Given the description of an element on the screen output the (x, y) to click on. 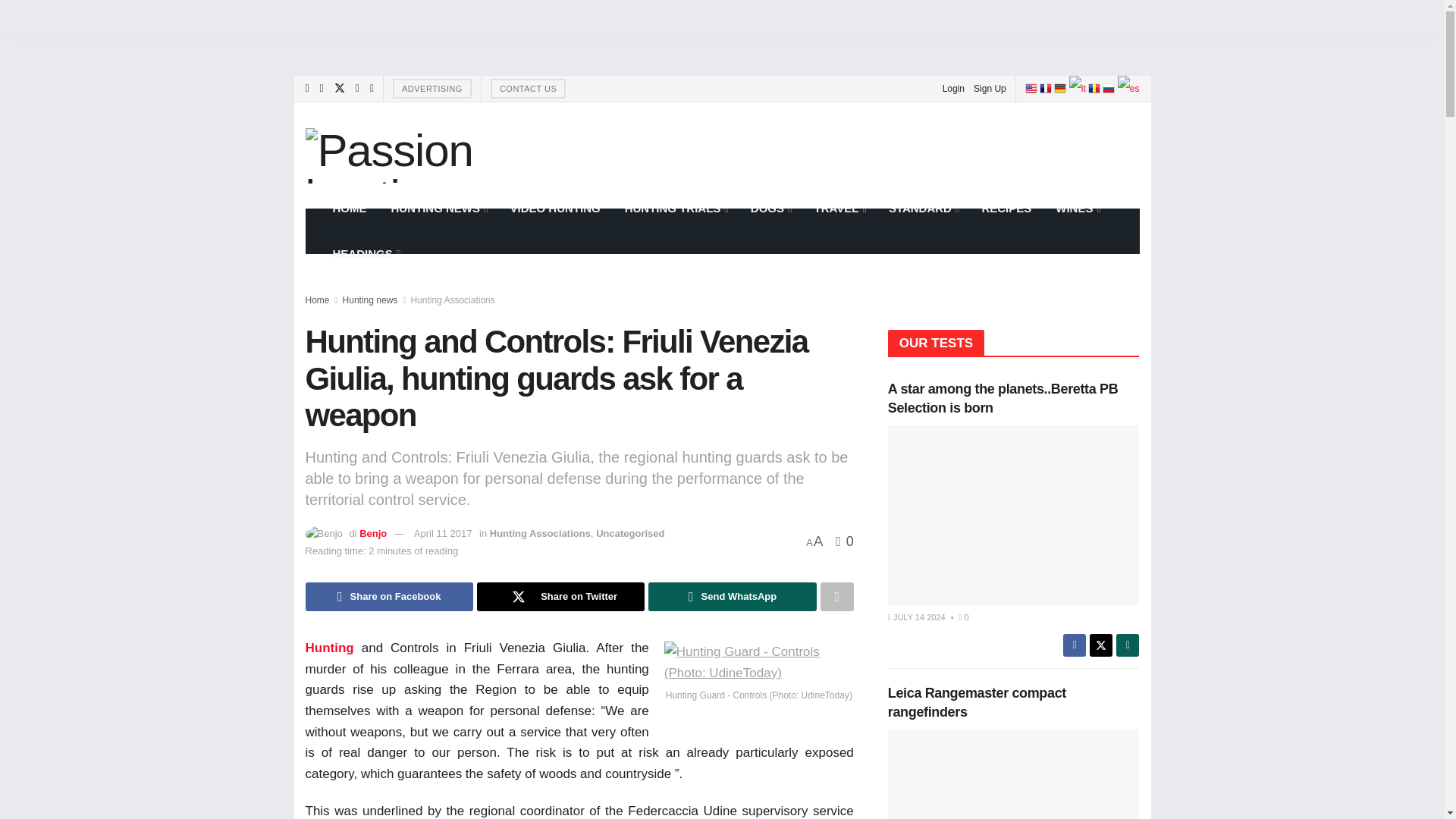
HOME (349, 207)
HUNTING NEWS (437, 207)
Hunting video. Videos and films of hunting and hunting (554, 207)
HUNTING TRIALS (675, 207)
VIDEO HUNTING (554, 207)
ADVERTISING (432, 88)
DOGS (770, 207)
Sign Up (990, 88)
